Given the description of an element on the screen output the (x, y) to click on. 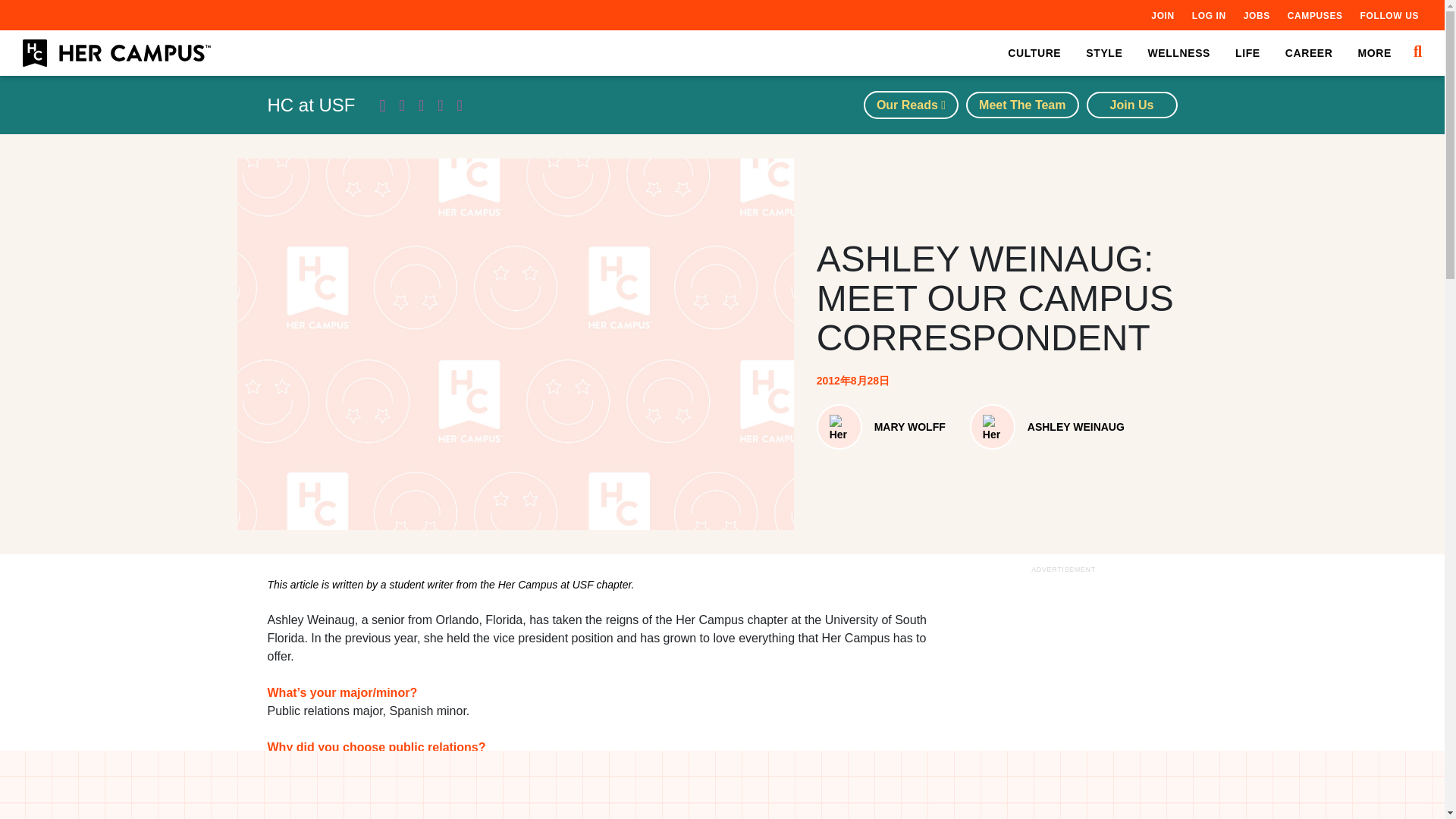
JOBS (1256, 15)
JOIN (1162, 15)
LOG IN (1208, 15)
CAMPUSES (1314, 15)
